Given the description of an element on the screen output the (x, y) to click on. 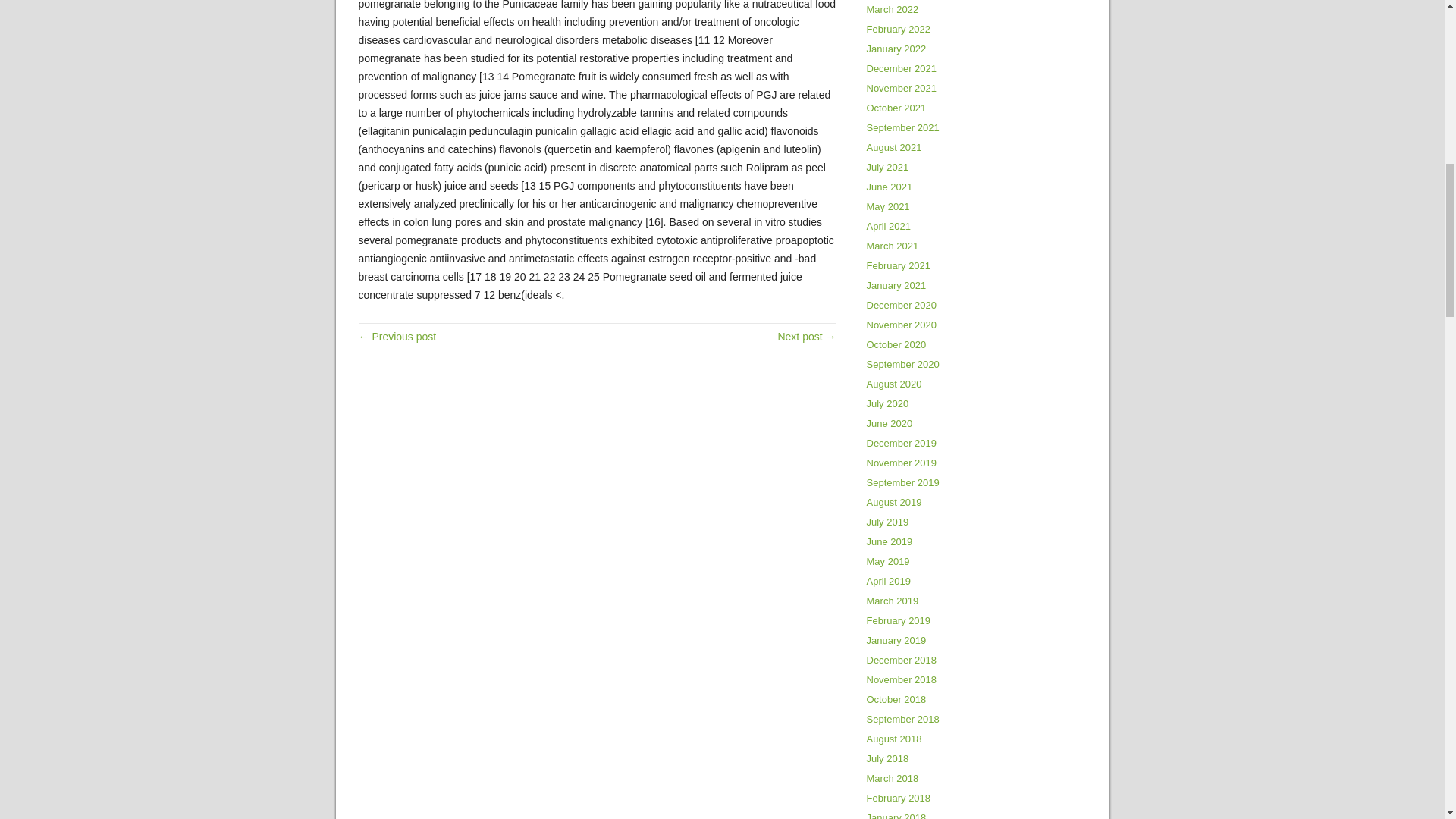
December 2021 (901, 68)
March 2022 (892, 9)
February 2022 (898, 29)
October 2021 (896, 107)
January 2022 (896, 48)
November 2021 (901, 88)
September 2021 (902, 127)
